Given the description of an element on the screen output the (x, y) to click on. 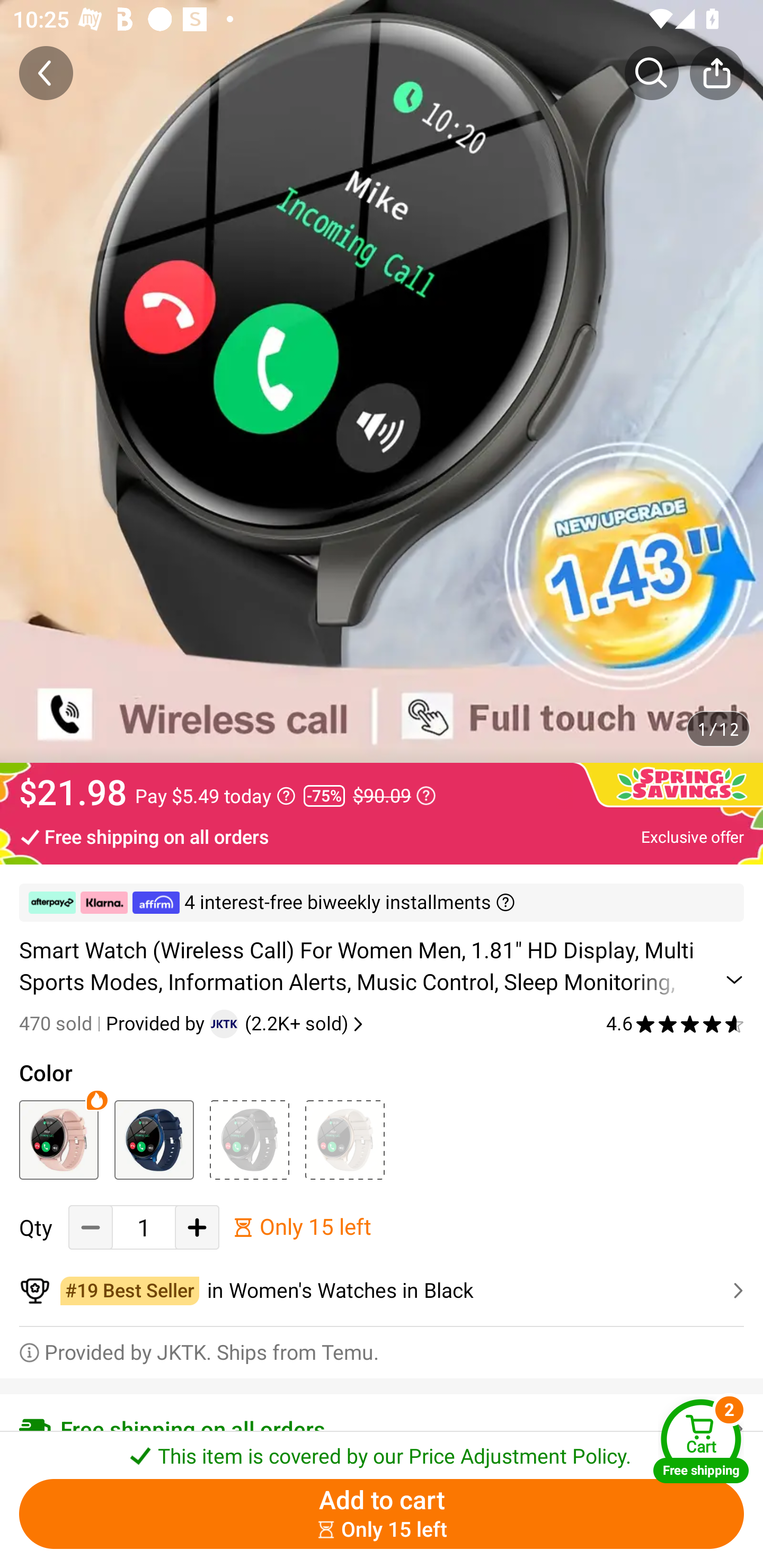
Back (46, 72)
Share (716, 72)
Pay $5.49 today   (215, 795)
Free shipping on all orders Exclusive offer (381, 836)
￼ ￼ ￼ 4 interest-free biweekly installments ￼ (381, 902)
470 sold Provided by  (114, 1023)
4.6 (674, 1023)
pink   (58, 1139)
Blue (153, 1139)
Black (249, 1139)
Golden (344, 1139)
Decrease Quantity Button (90, 1227)
1 (143, 1227)
Add Quantity button (196, 1227)
￼￼in Women's Watches in Black (381, 1290)
Cart Free shipping Cart (701, 1440)
Add to cart ￼￼Only 15 left (381, 1513)
